Given the description of an element on the screen output the (x, y) to click on. 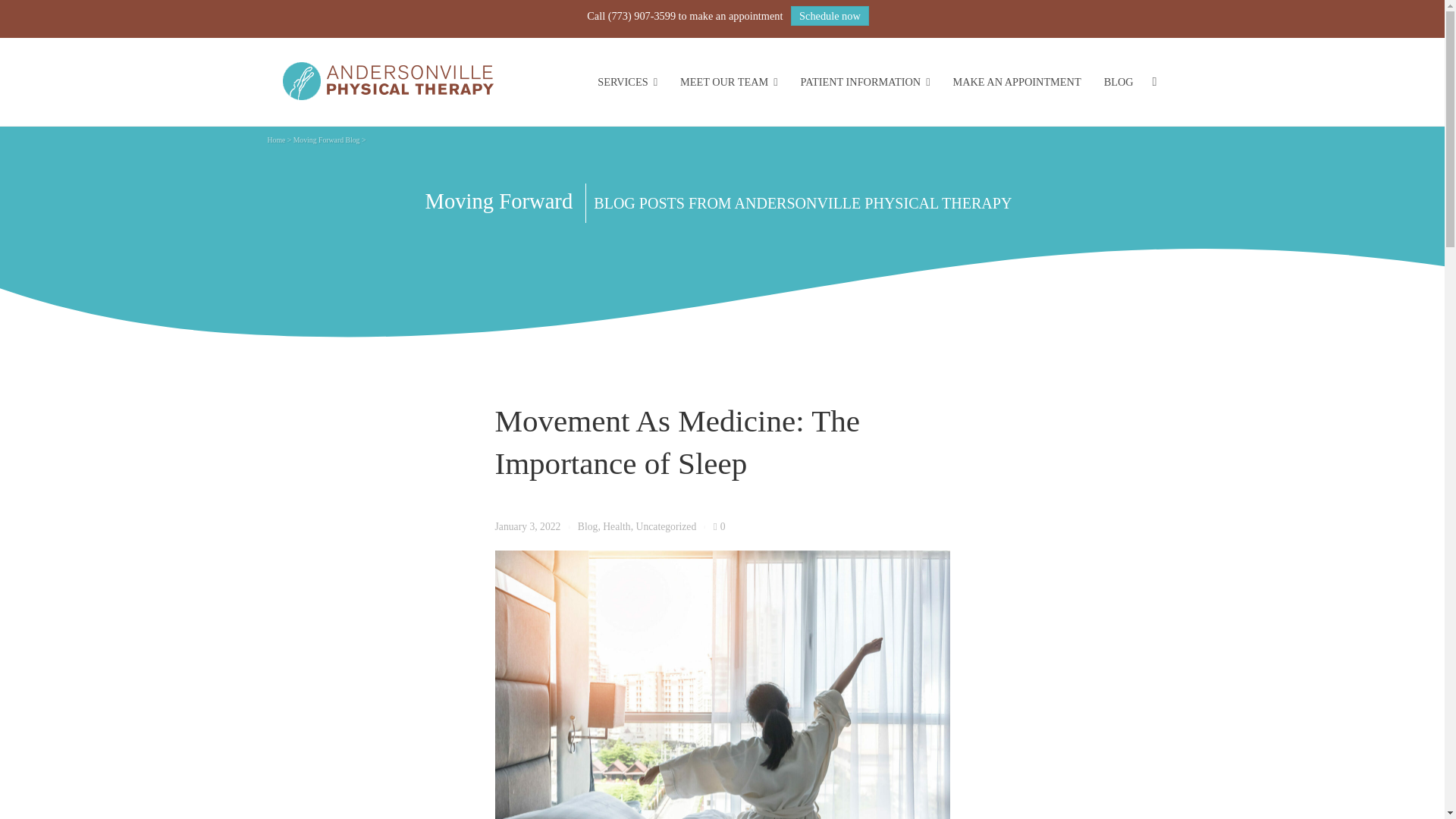
MAKE AN APPOINTMENT (1016, 81)
PATIENT INFORMATION (865, 81)
MEET OUR TEAM (728, 81)
SERVICES (627, 81)
Instagram (1091, 791)
LinkedIn (1120, 791)
Facebook (1061, 791)
Schedule an appointment (357, 738)
Twitter (1149, 791)
